Given the description of an element on the screen output the (x, y) to click on. 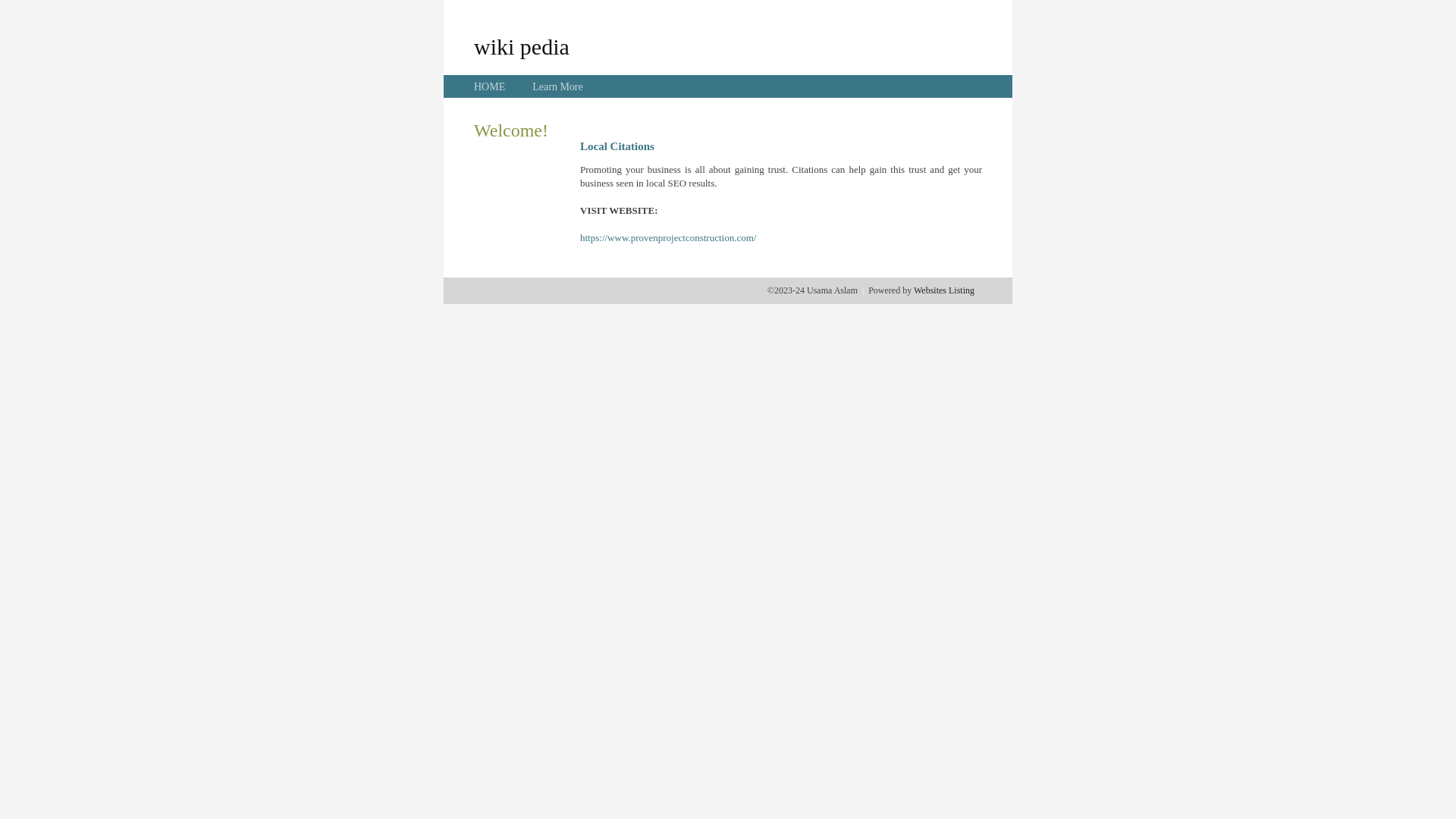
wiki pedia Element type: text (521, 46)
https://www.provenprojectconstruction.com/ Element type: text (668, 237)
HOME Element type: text (489, 86)
Websites Listing Element type: text (943, 290)
Learn More Element type: text (557, 86)
